Given the description of an element on the screen output the (x, y) to click on. 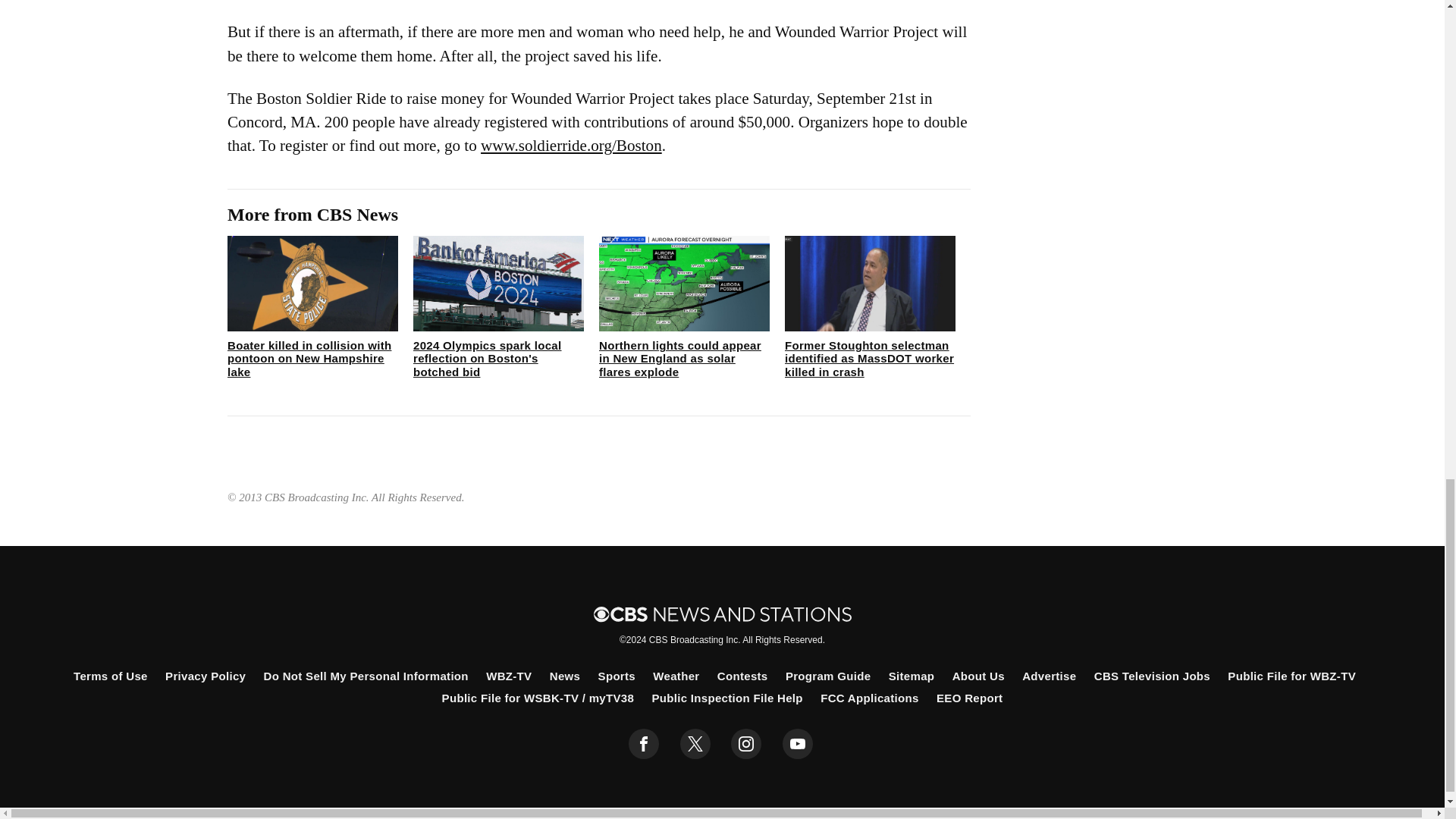
facebook (643, 743)
youtube (797, 743)
instagram (745, 743)
twitter (694, 743)
